Given the description of an element on the screen output the (x, y) to click on. 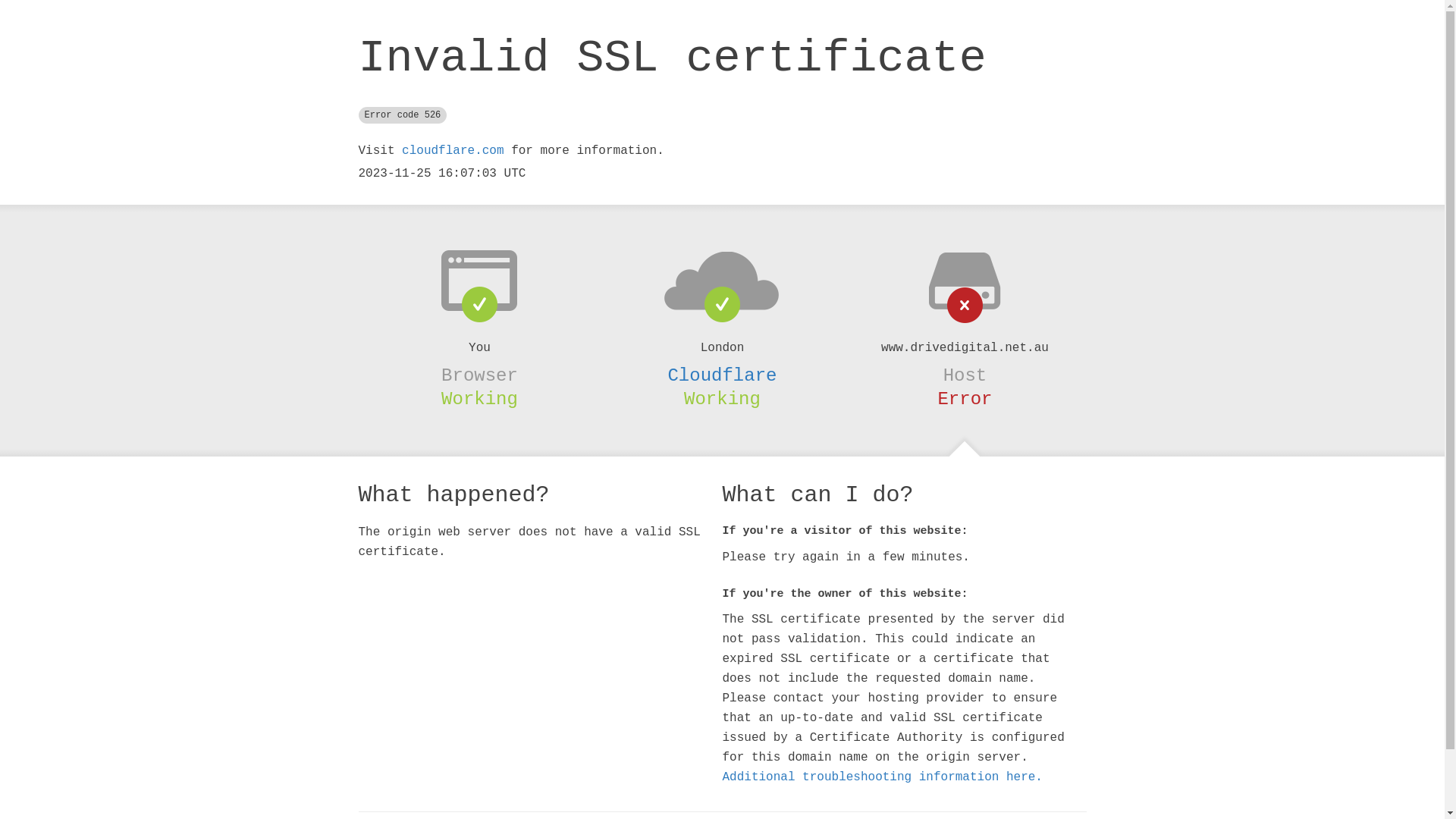
Additional troubleshooting information here. Element type: text (881, 777)
Cloudflare Element type: text (721, 375)
cloudflare.com Element type: text (452, 150)
